Given the description of an element on the screen output the (x, y) to click on. 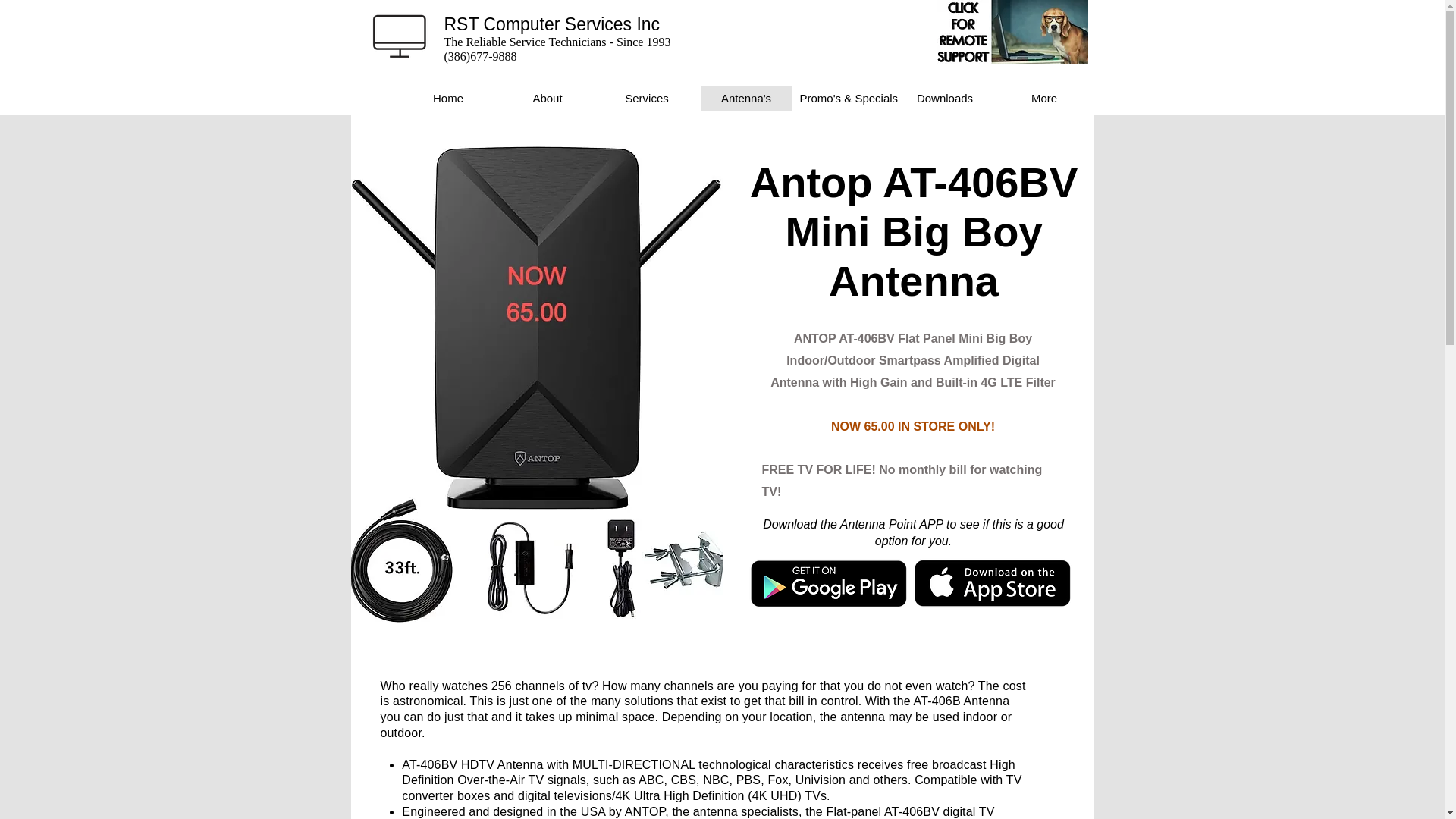
Call RST Computers 386-677-9888 (398, 36)
About (548, 97)
Services (646, 97)
Downloads (945, 97)
RST Computer Services Inc (552, 24)
Home (447, 97)
Antenna's (746, 97)
